Given the description of an element on the screen output the (x, y) to click on. 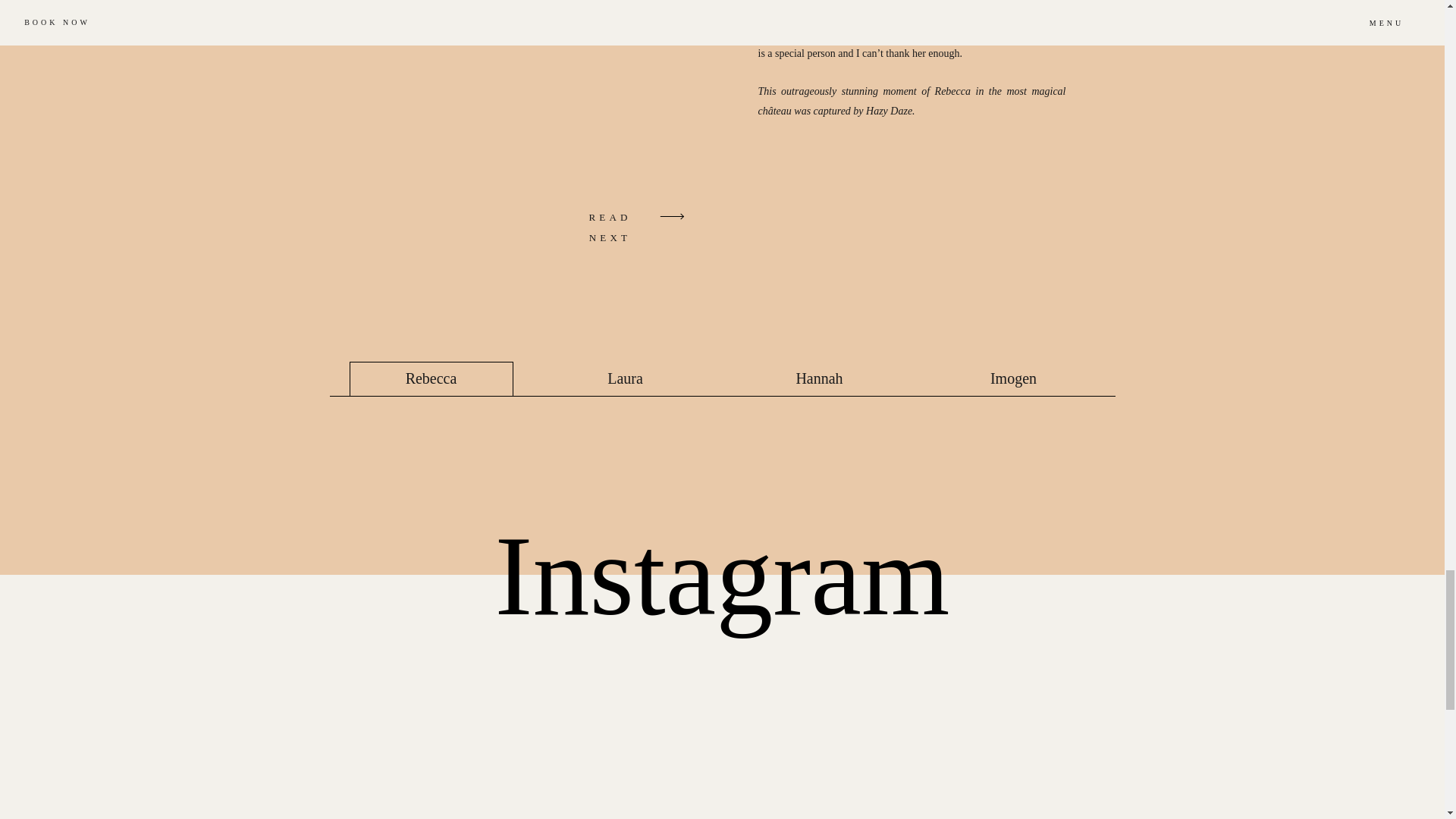
Hannah (818, 378)
Imogen (1013, 378)
Laura (624, 378)
Rebecca (430, 378)
READ NEXT (610, 216)
